Given the description of an element on the screen output the (x, y) to click on. 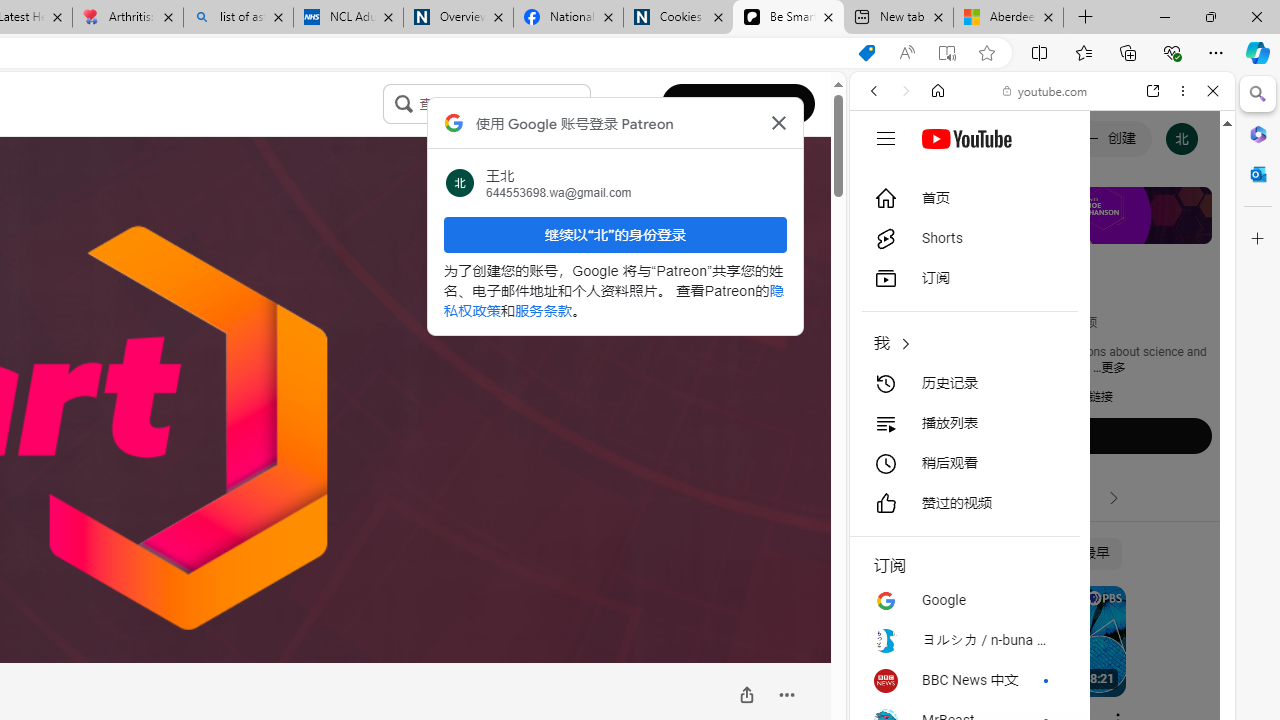
YouTube (1034, 296)
list of asthma inhalers uk - Search (238, 17)
Search the web (1051, 137)
Show More Music (1164, 546)
Class: Bz112c Bz112c-r9oPif (778, 122)
